Given the description of an element on the screen output the (x, y) to click on. 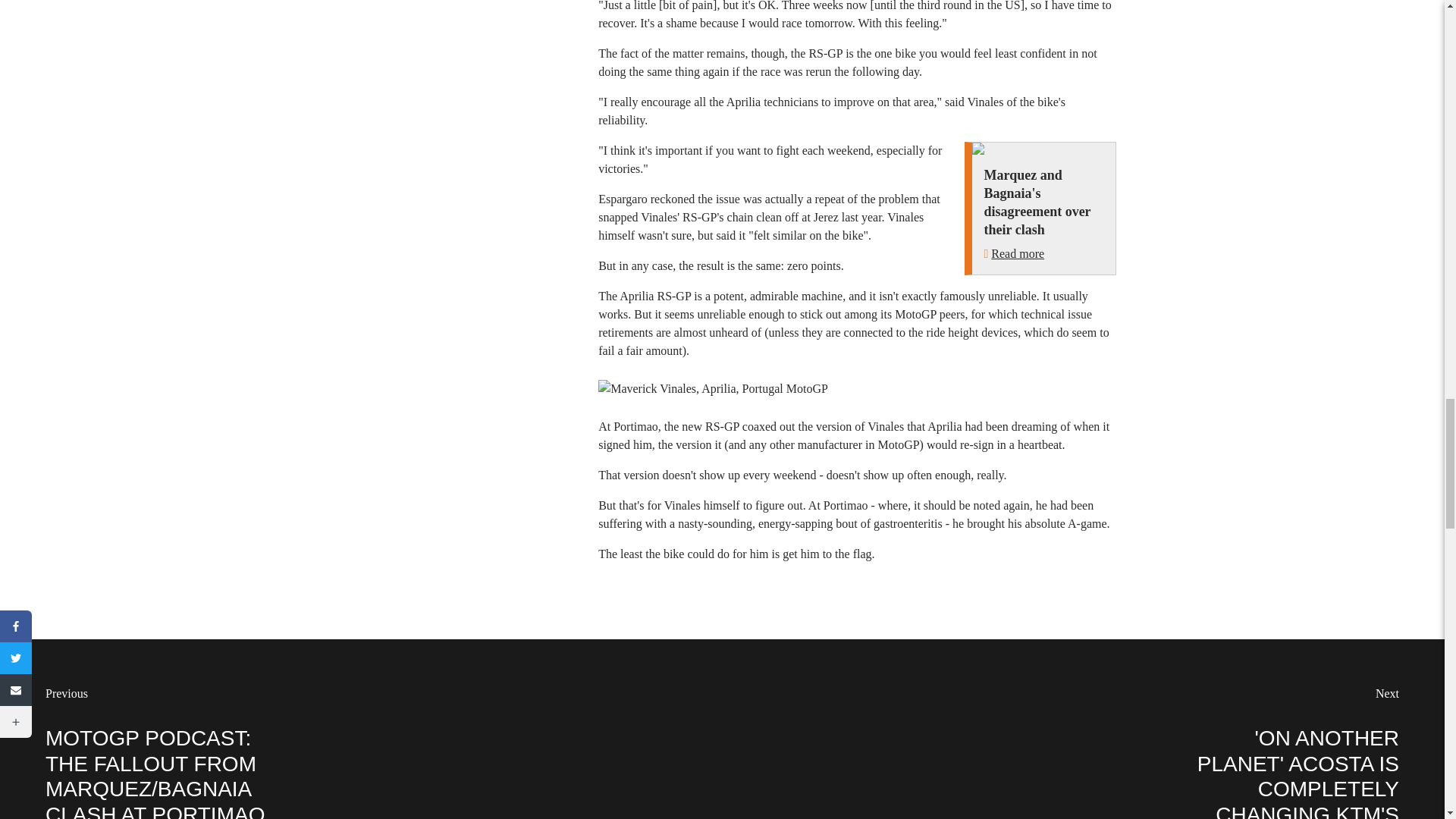
Next (1387, 693)
Read more (1017, 253)
Previous (66, 693)
